Given the description of an element on the screen output the (x, y) to click on. 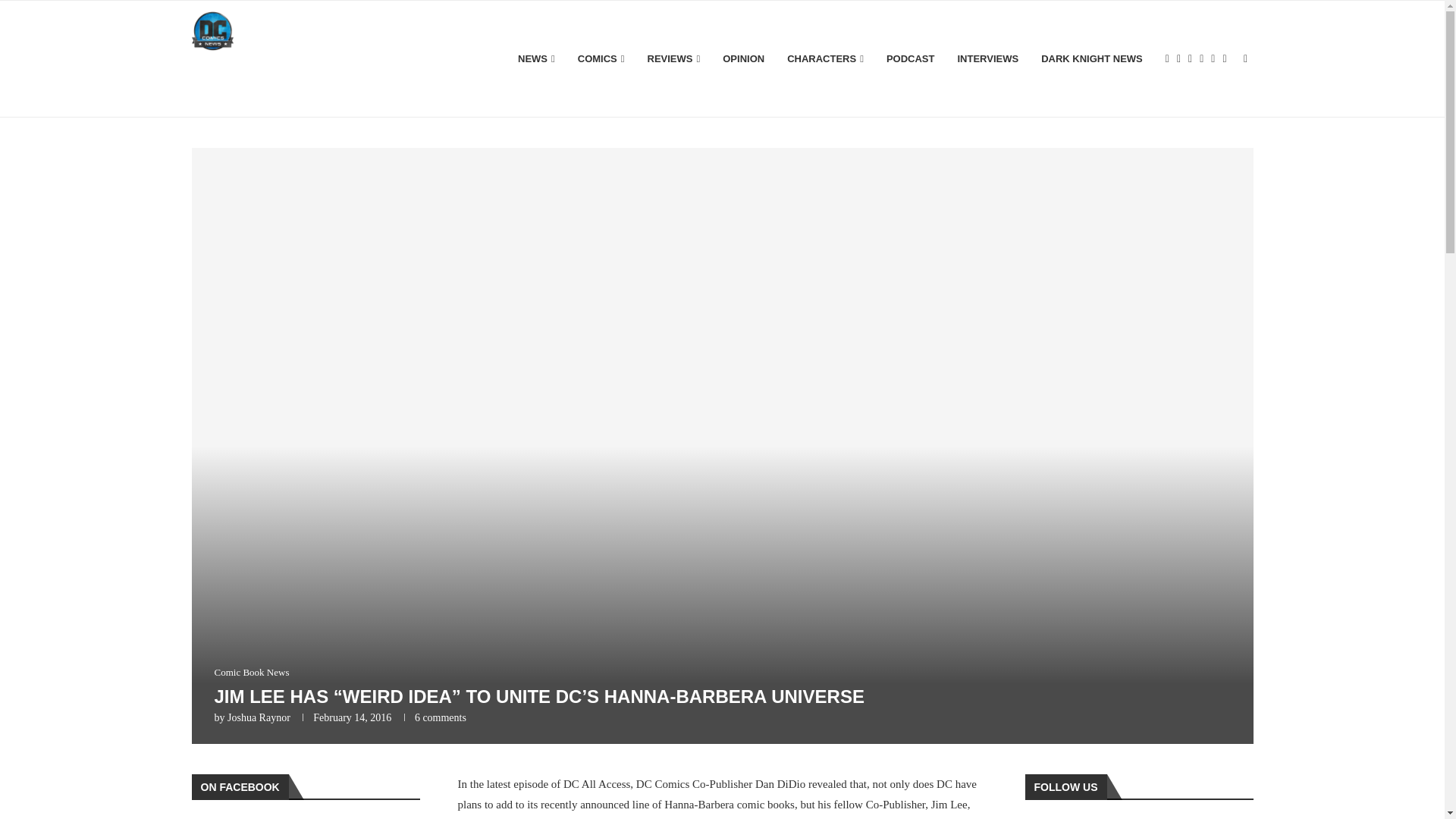
Comic Book News (251, 672)
